Given the description of an element on the screen output the (x, y) to click on. 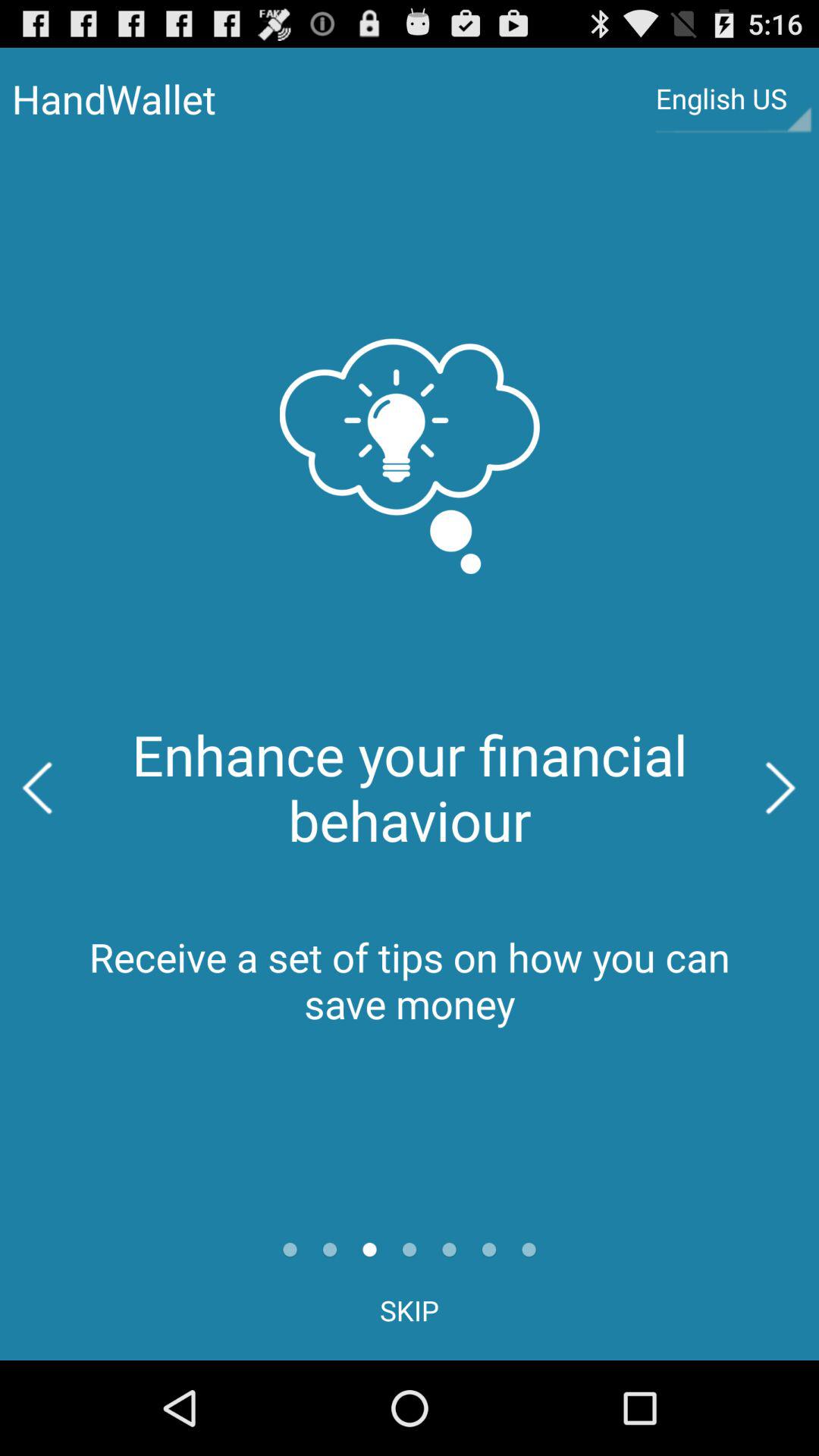
turn on the item above the receive a set item (781, 787)
